Given the description of an element on the screen output the (x, y) to click on. 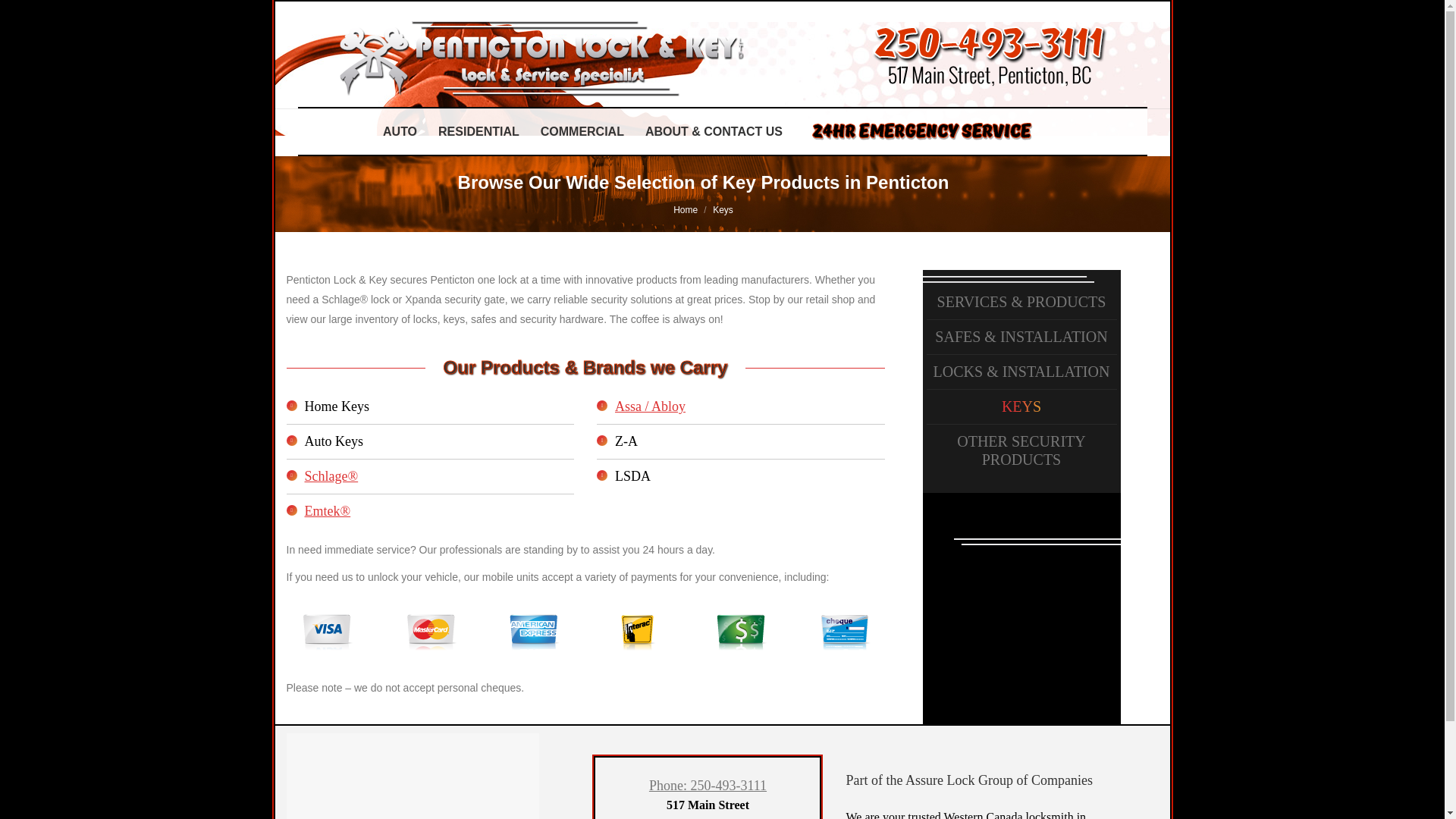
KEYS (1021, 406)
OTHER SECURITY PRODUCTS (1021, 450)
RESIDENTIAL (478, 131)
american-express (533, 632)
COMMERCIAL (582, 131)
visa (326, 632)
Home (684, 209)
Phone: 250-493-3111 (708, 785)
cash (739, 632)
AUTO (399, 131)
Part of the Assure Lock Group of Companies (968, 780)
mastercard (429, 632)
Home (684, 209)
cheque (843, 632)
interac-debit-english (636, 632)
